Given the description of an element on the screen output the (x, y) to click on. 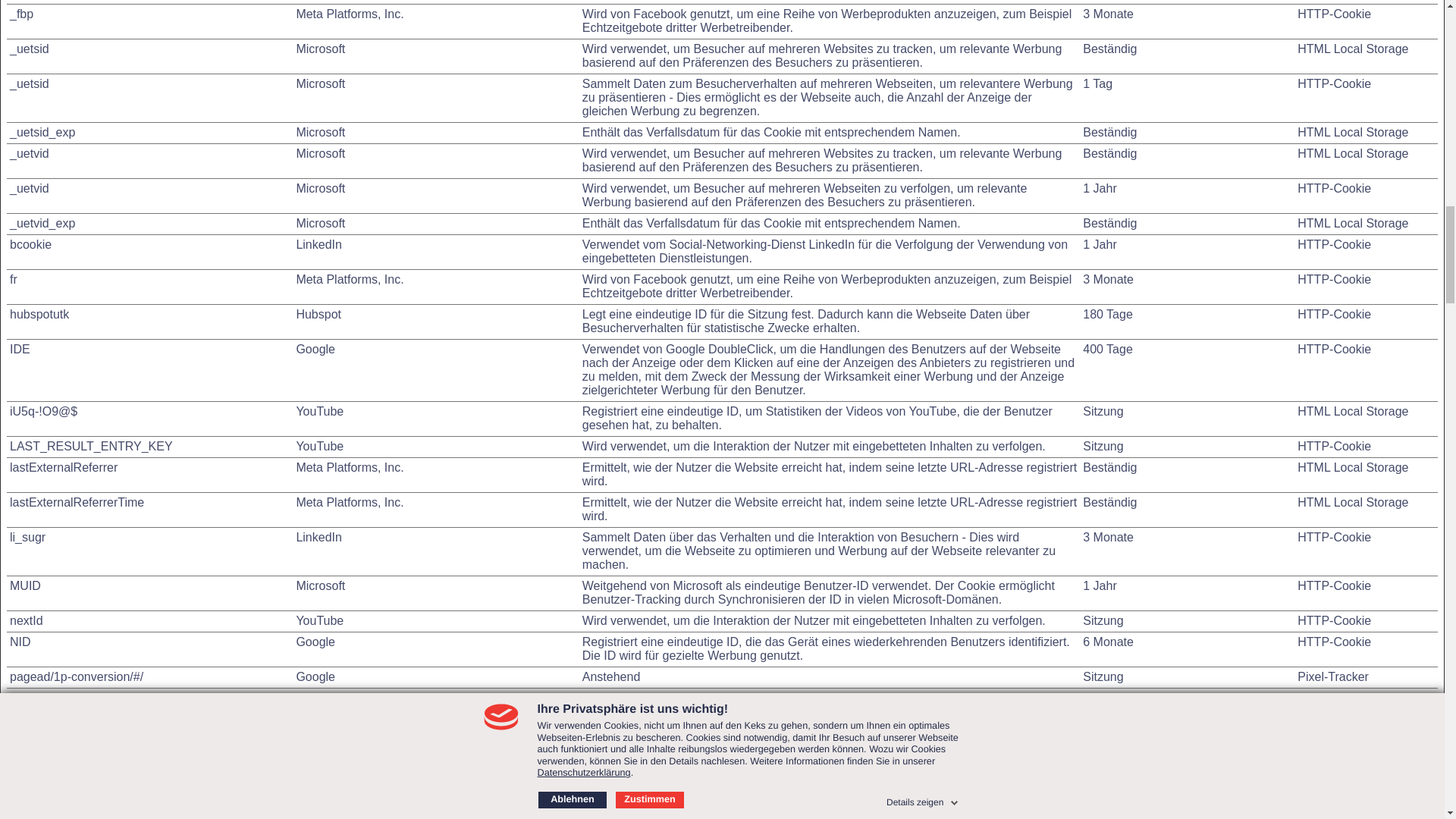
Microsoft (320, 187)
Hubspot (317, 314)
Meta Platforms, Inc. (349, 278)
LinkedIn (318, 244)
Meta Platforms, Inc. (349, 502)
Microsoft (320, 153)
Meta Platforms, Inc. (349, 13)
Meta Platforms, Inc. (349, 467)
YouTube (319, 445)
Microsoft (320, 132)
Microsoft (320, 223)
YouTube (319, 410)
Microsoft (320, 48)
Microsoft (320, 585)
Microsoft (320, 83)
